Given the description of an element on the screen output the (x, y) to click on. 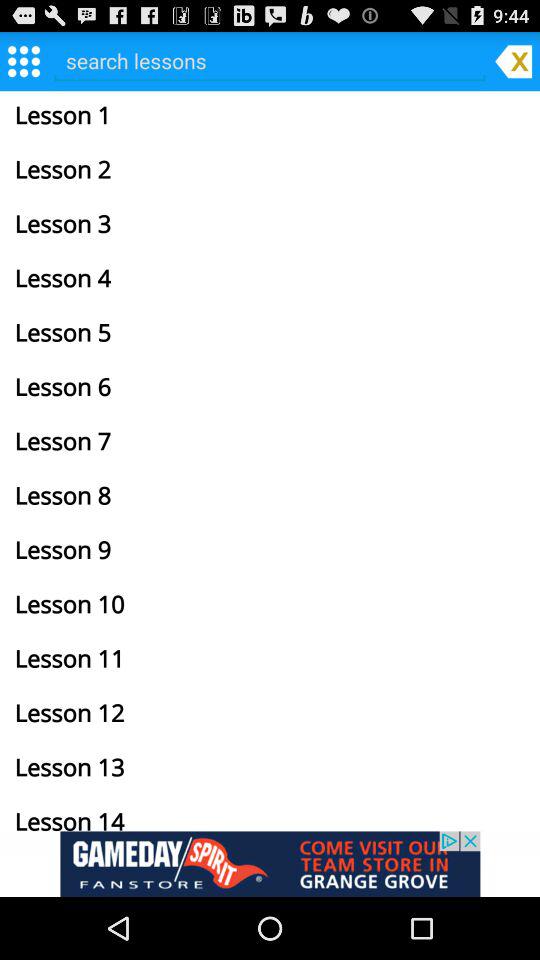
search for lessons (269, 60)
